Given the description of an element on the screen output the (x, y) to click on. 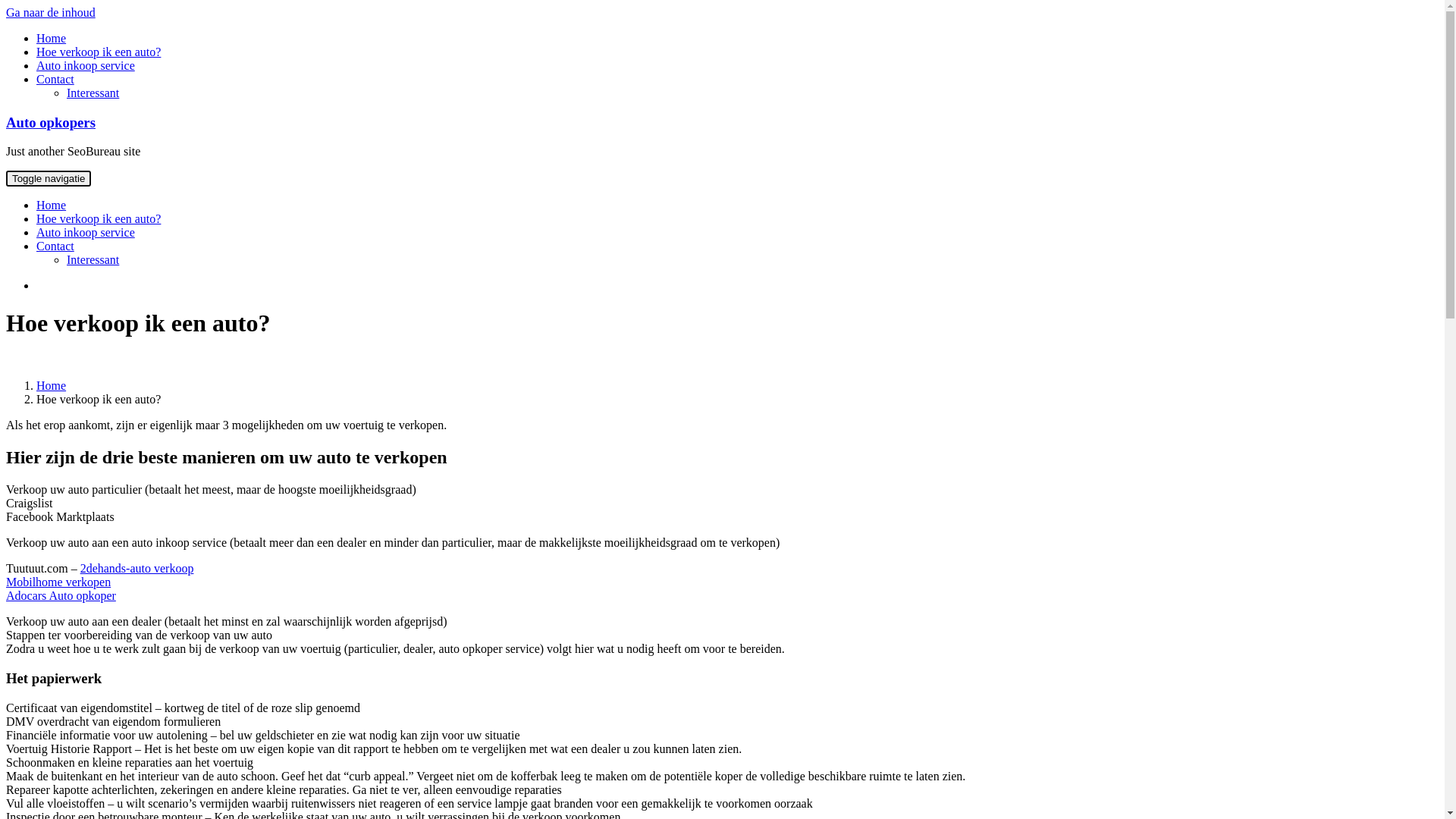
Home Element type: text (50, 37)
Contact Element type: text (55, 78)
Hoe verkoop ik een auto? Element type: text (98, 218)
Home Element type: text (50, 204)
Contact Element type: text (55, 245)
Home Element type: text (50, 385)
Toggle navigatie Element type: text (48, 178)
Auto inkoop service Element type: text (85, 231)
Interessant Element type: text (92, 92)
Auto opkopers Element type: text (50, 122)
Auto inkoop service Element type: text (85, 65)
Adocars Auto opkoper Element type: text (61, 595)
Ga naar de inhoud Element type: text (50, 12)
Mobilhome verkopen Element type: text (58, 581)
Interessant Element type: text (92, 259)
Hoe verkoop ik een auto? Element type: text (98, 51)
2dehands-auto verkoop Element type: text (137, 567)
